Given the description of an element on the screen output the (x, y) to click on. 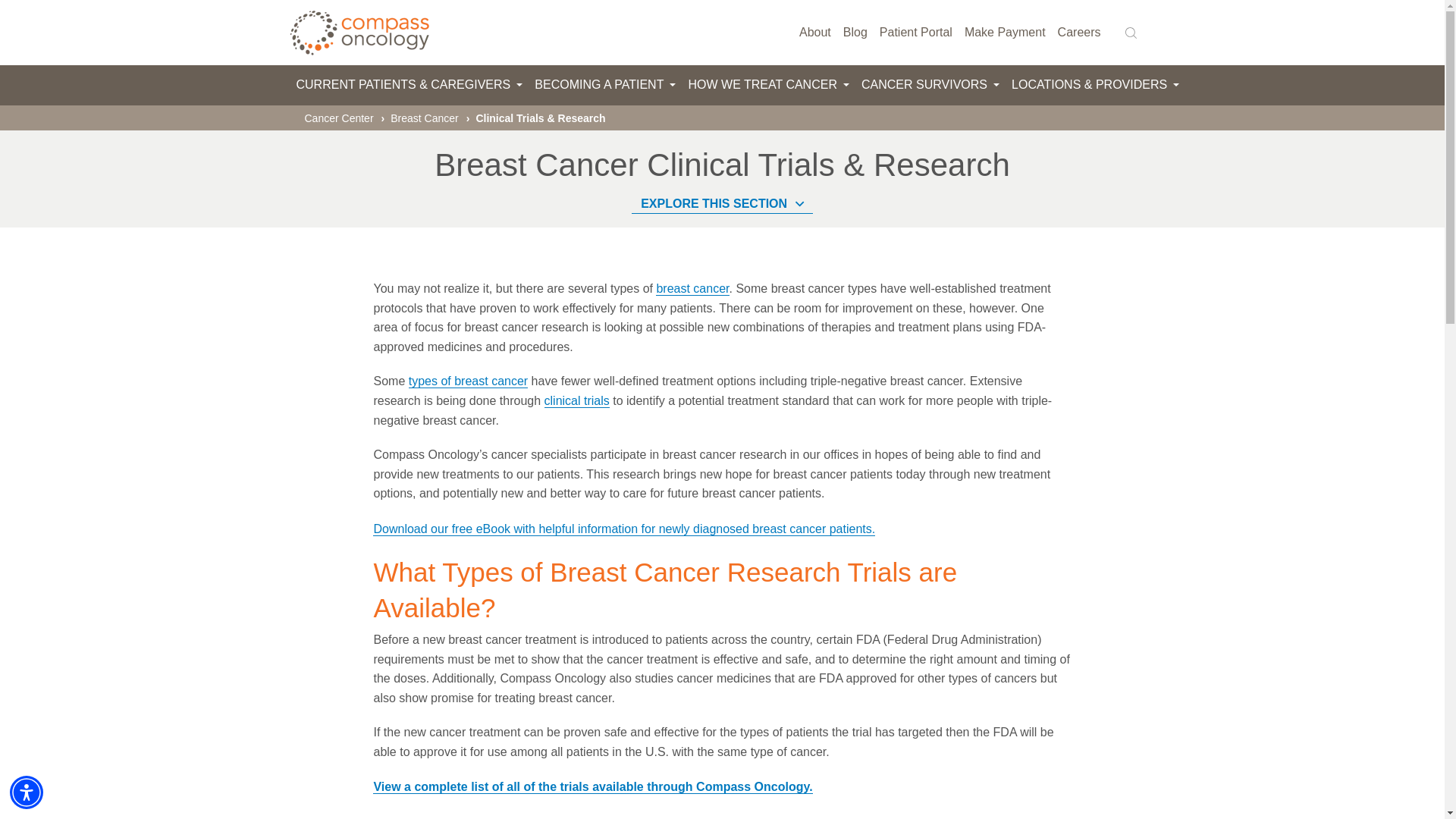
Accessibility Menu (26, 792)
BECOMING A PATIENT (604, 85)
HOW WE TREAT CANCER (768, 85)
Make Payment (1004, 32)
Careers (1078, 32)
Patient Portal (915, 32)
About (815, 32)
